Given the description of an element on the screen output the (x, y) to click on. 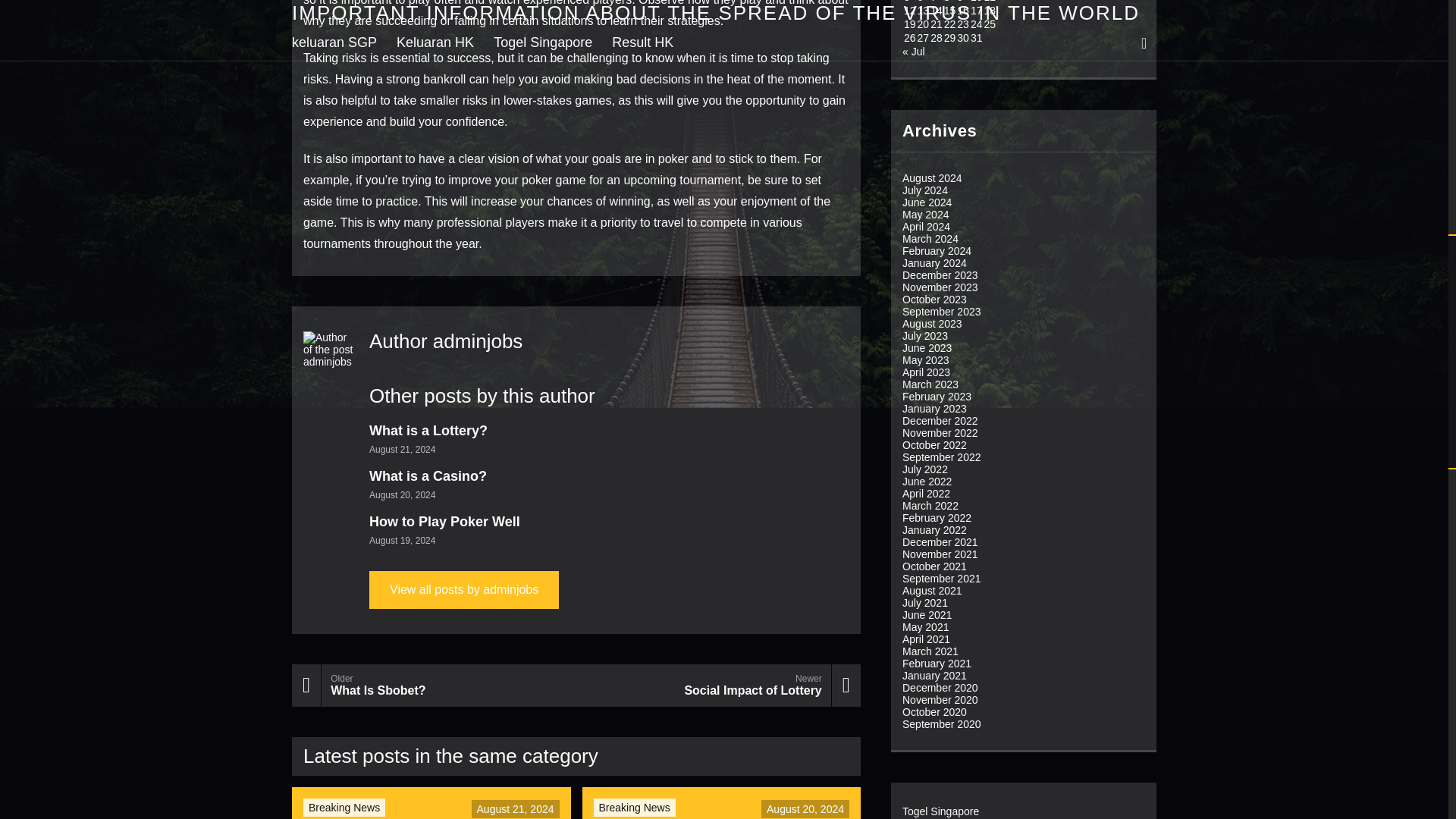
Breaking News (633, 807)
What is a Lottery? (428, 430)
How to Play Poker Well (444, 521)
View all posts by adminjobs (434, 685)
Breaking News (464, 589)
What is a Casino? (344, 807)
